Given the description of an element on the screen output the (x, y) to click on. 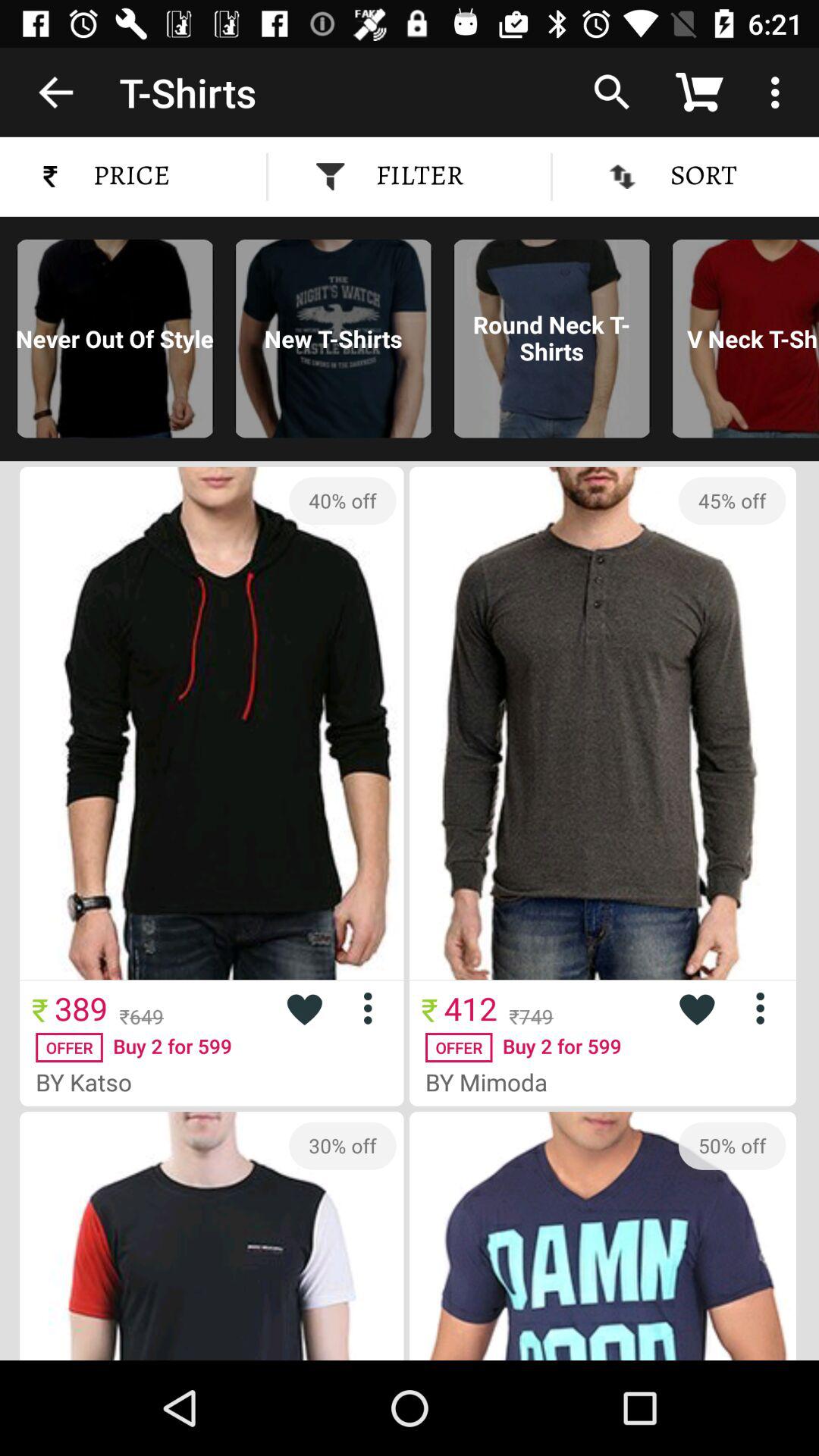
select menu for further item options (766, 1008)
